Given the description of an element on the screen output the (x, y) to click on. 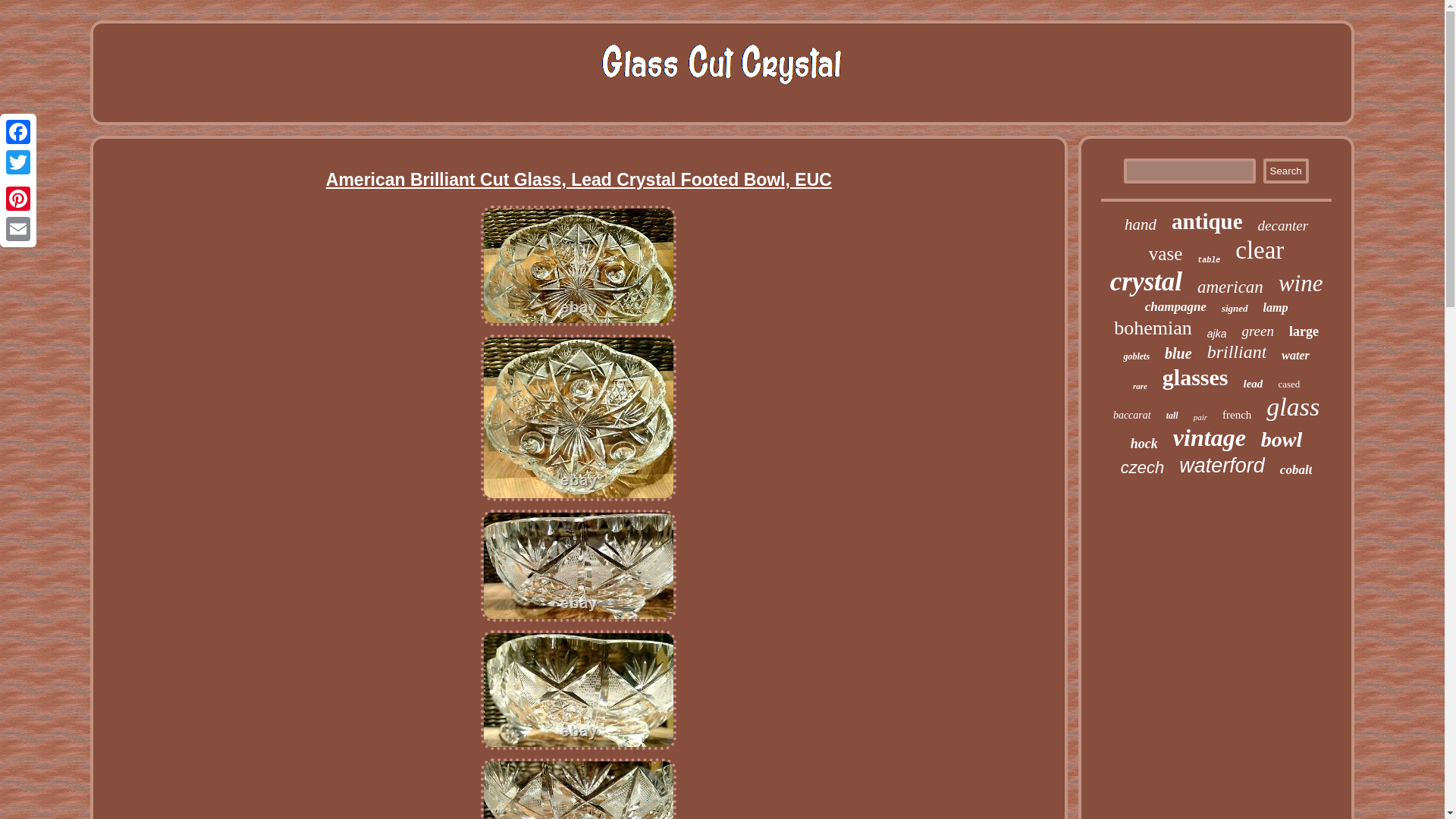
Search (1285, 170)
decanter (1282, 225)
crystal (1145, 281)
American Brilliant Cut Glass, Lead Crystal Footed Bowl, EUC (578, 265)
American Brilliant Cut Glass, Lead Crystal Footed Bowl, EUC (578, 689)
american (1229, 287)
lamp (1275, 307)
Search (1285, 170)
table (1208, 260)
Email (17, 228)
American Brilliant Cut Glass, Lead Crystal Footed Bowl, EUC (578, 788)
antique (1206, 221)
signed (1234, 308)
wine (1300, 283)
Twitter (17, 162)
